Given the description of an element on the screen output the (x, y) to click on. 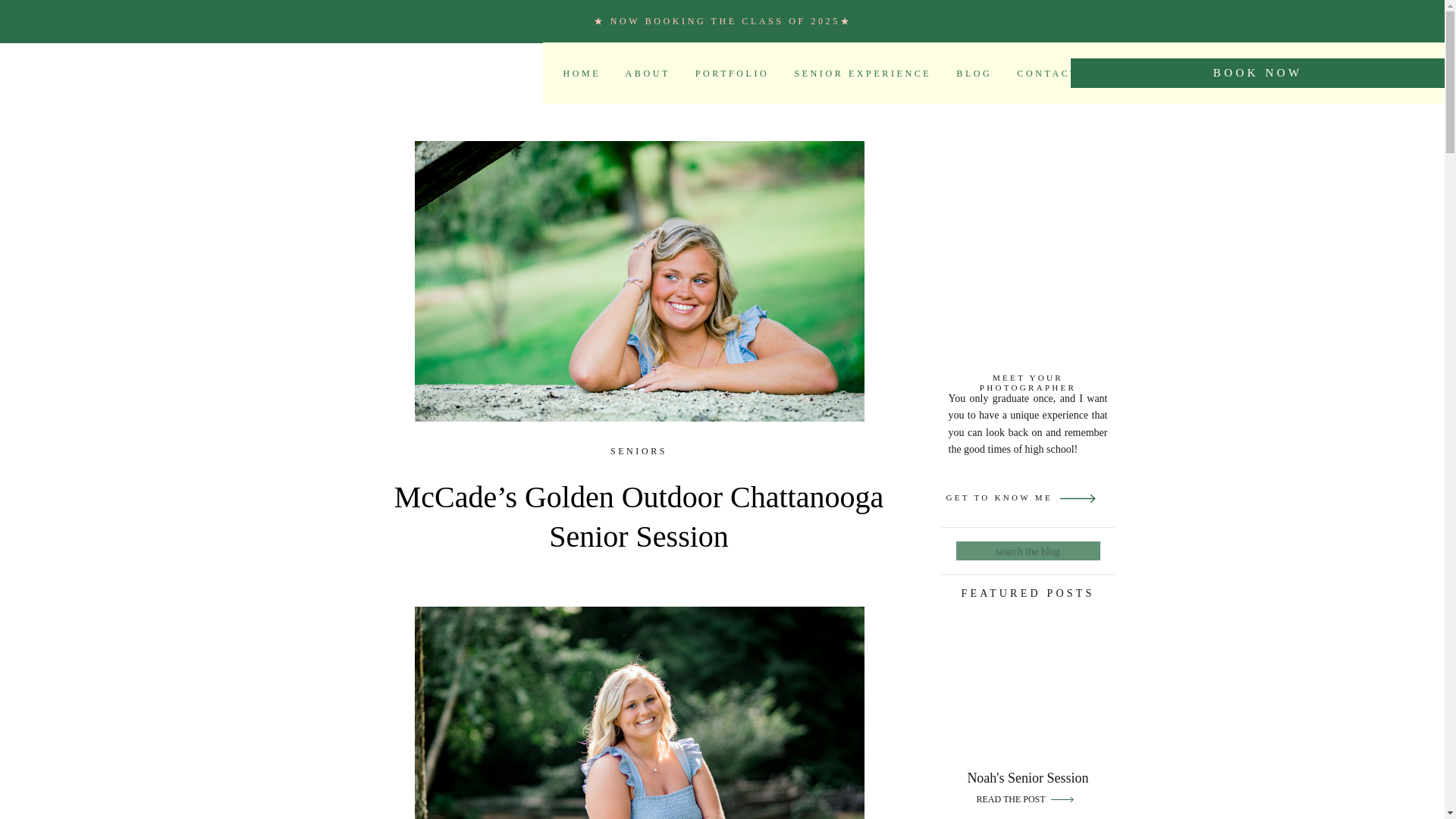
SENIORS (638, 450)
HOME (580, 72)
GET TO KNOW ME  (1002, 499)
ABOUT (647, 72)
BLOG (973, 72)
SENIOR EXPERIENCE (862, 72)
CONTACT (1047, 72)
READ THE POST (1011, 799)
PORTFOLIO (732, 72)
